Given the description of an element on the screen output the (x, y) to click on. 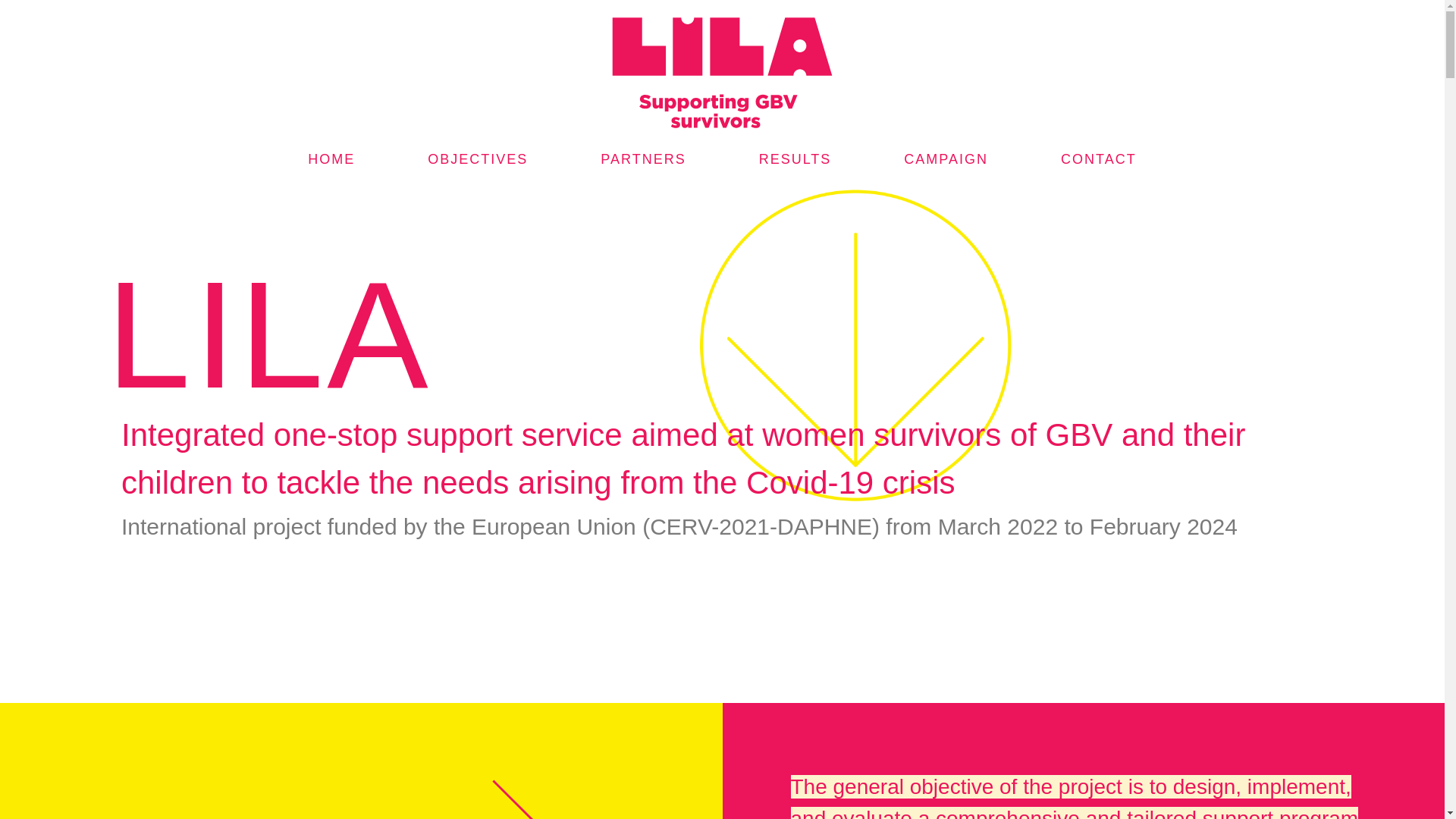
PARTNERS (642, 158)
OBJECTIVES (477, 158)
RESULTS (795, 158)
HOME (331, 158)
CAMPAIGN (945, 158)
CONTACT (1098, 158)
